Given the description of an element on the screen output the (x, y) to click on. 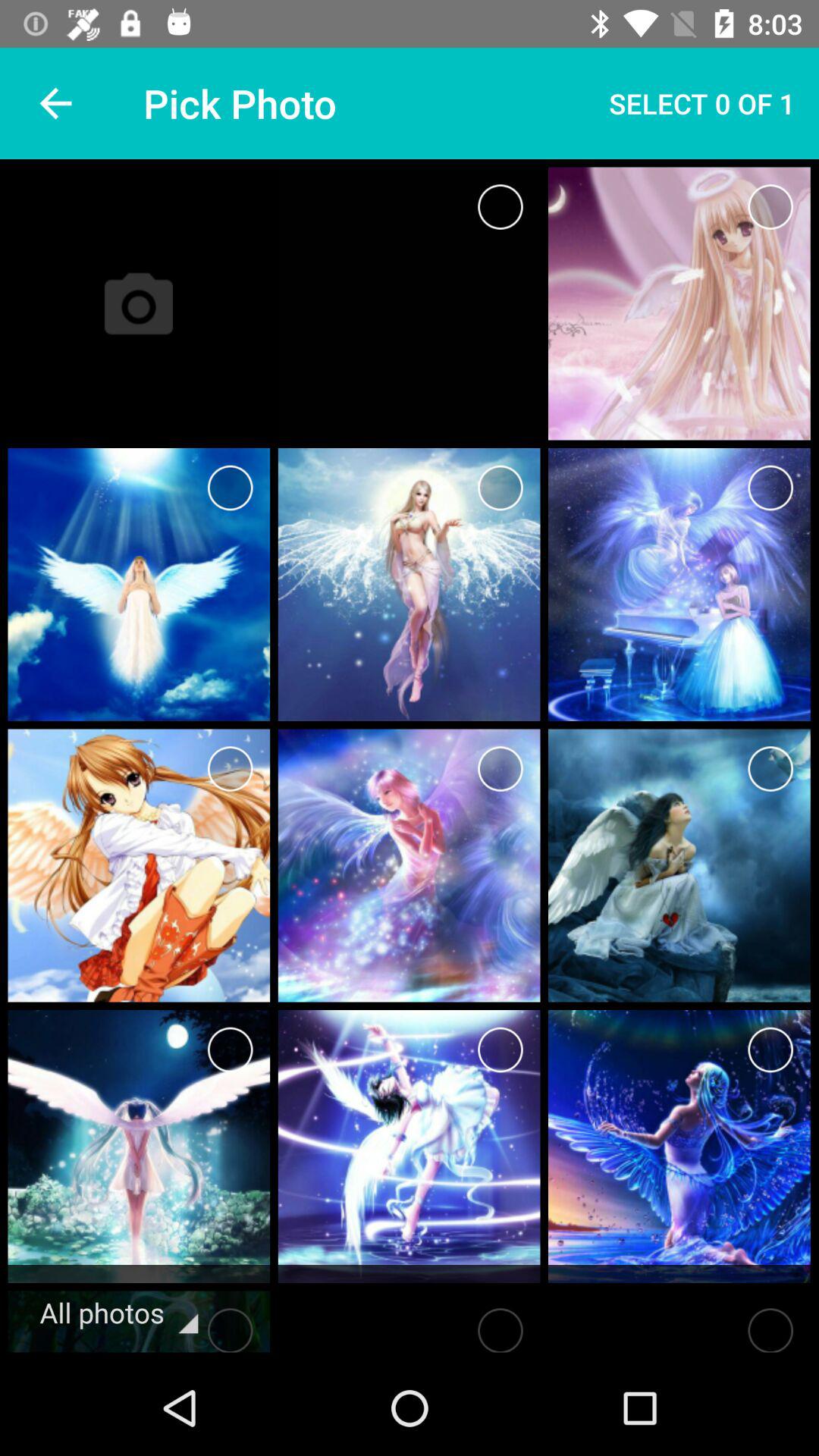
choose background image (500, 206)
